Given the description of an element on the screen output the (x, y) to click on. 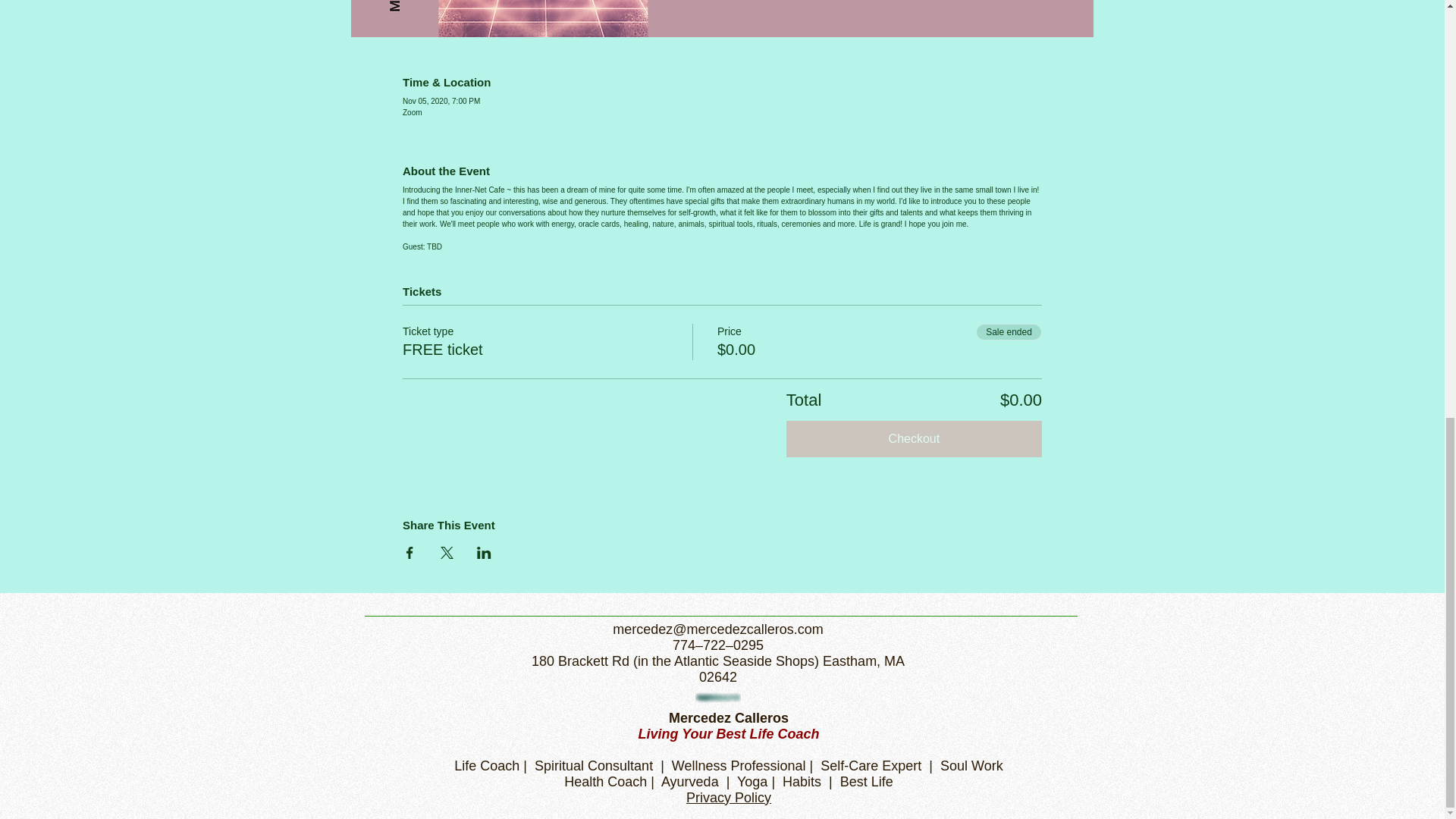
Checkout (914, 438)
Privacy Policy (728, 797)
